Given the description of an element on the screen output the (x, y) to click on. 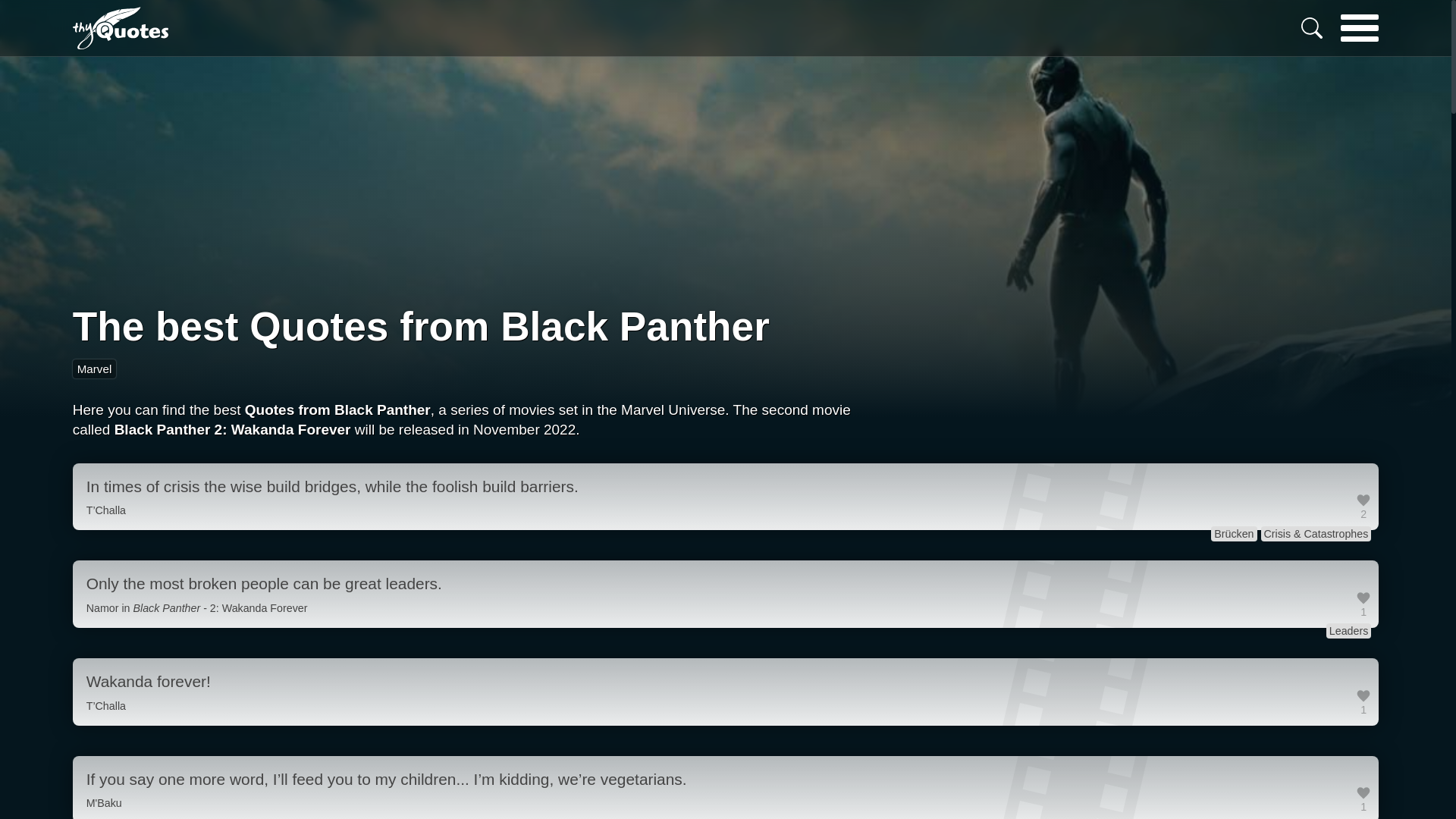
Leaders (1348, 630)
Marvel (94, 368)
